Given the description of an element on the screen output the (x, y) to click on. 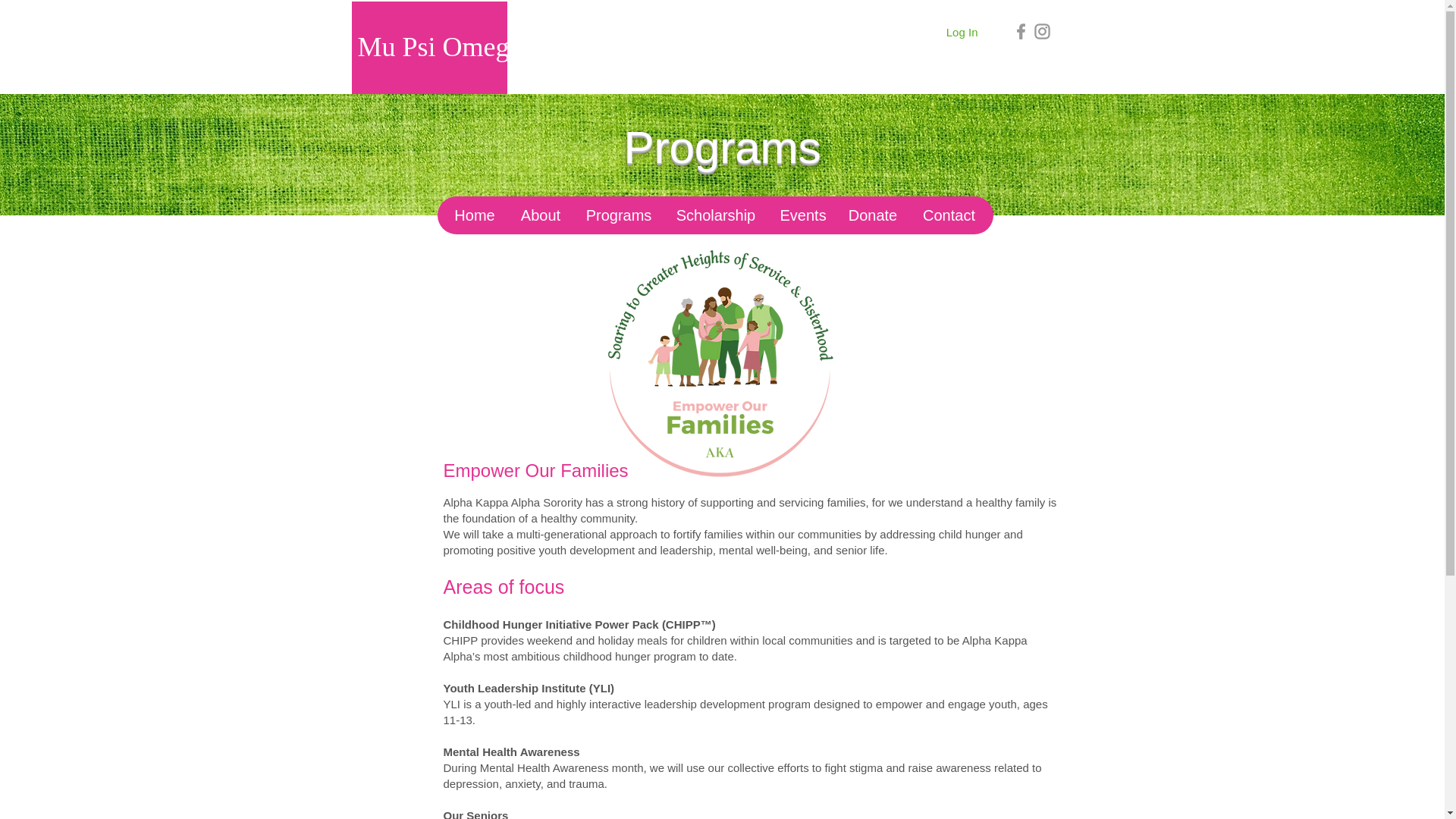
About (539, 215)
Donate (872, 215)
Events (800, 215)
Mu Psi Omega (439, 46)
Contact (949, 215)
Home (474, 215)
Scholarship (714, 215)
Log In (962, 32)
Programs (617, 215)
